Given the description of an element on the screen output the (x, y) to click on. 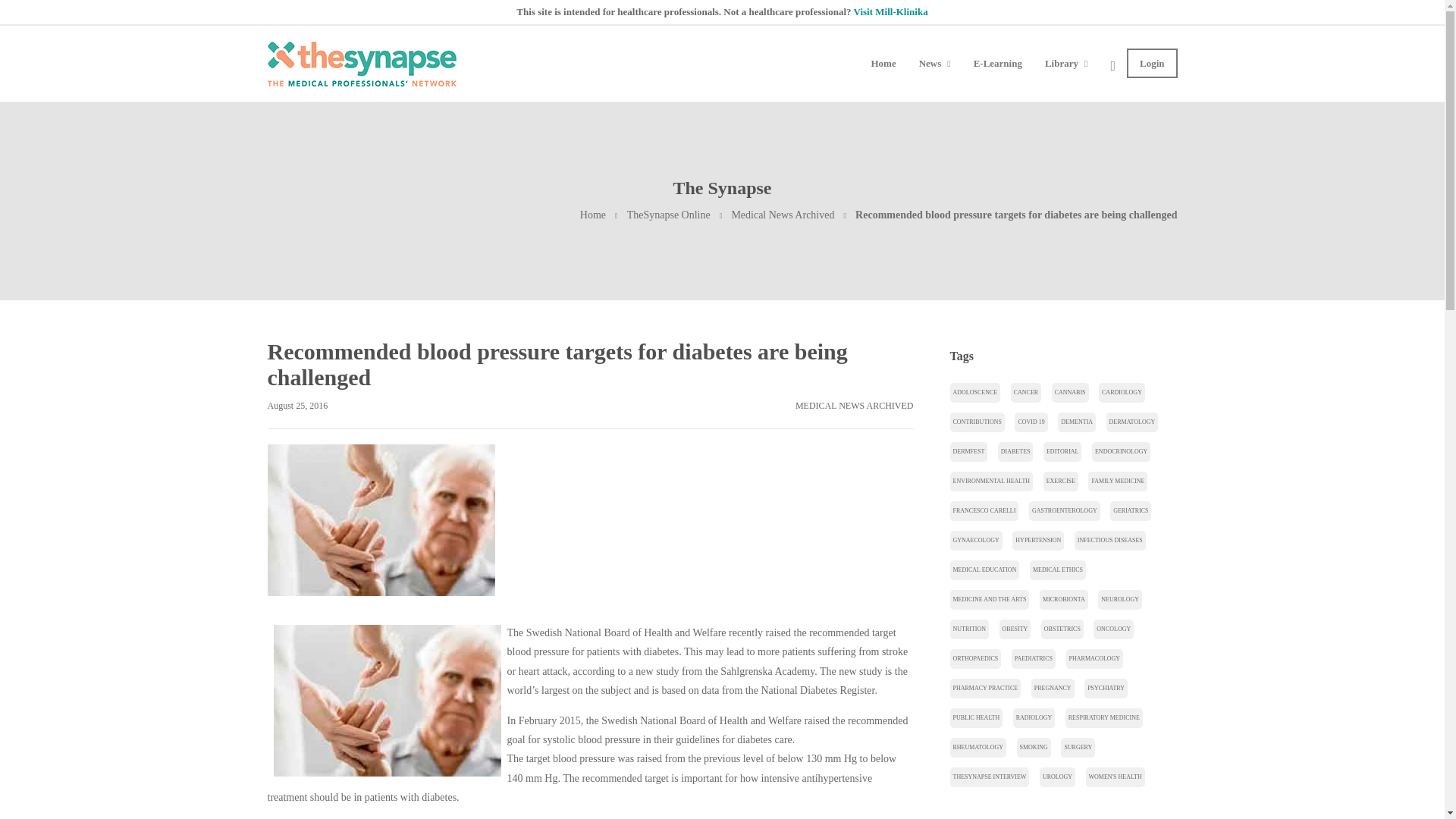
MEDICAL NEWS ARCHIVED (854, 405)
TheSynapse Online (668, 214)
Visit Mill-Klinika (890, 11)
August 25, 2016 (296, 405)
Medical News Archived (782, 214)
Home (592, 214)
Home (592, 214)
